Given the description of an element on the screen output the (x, y) to click on. 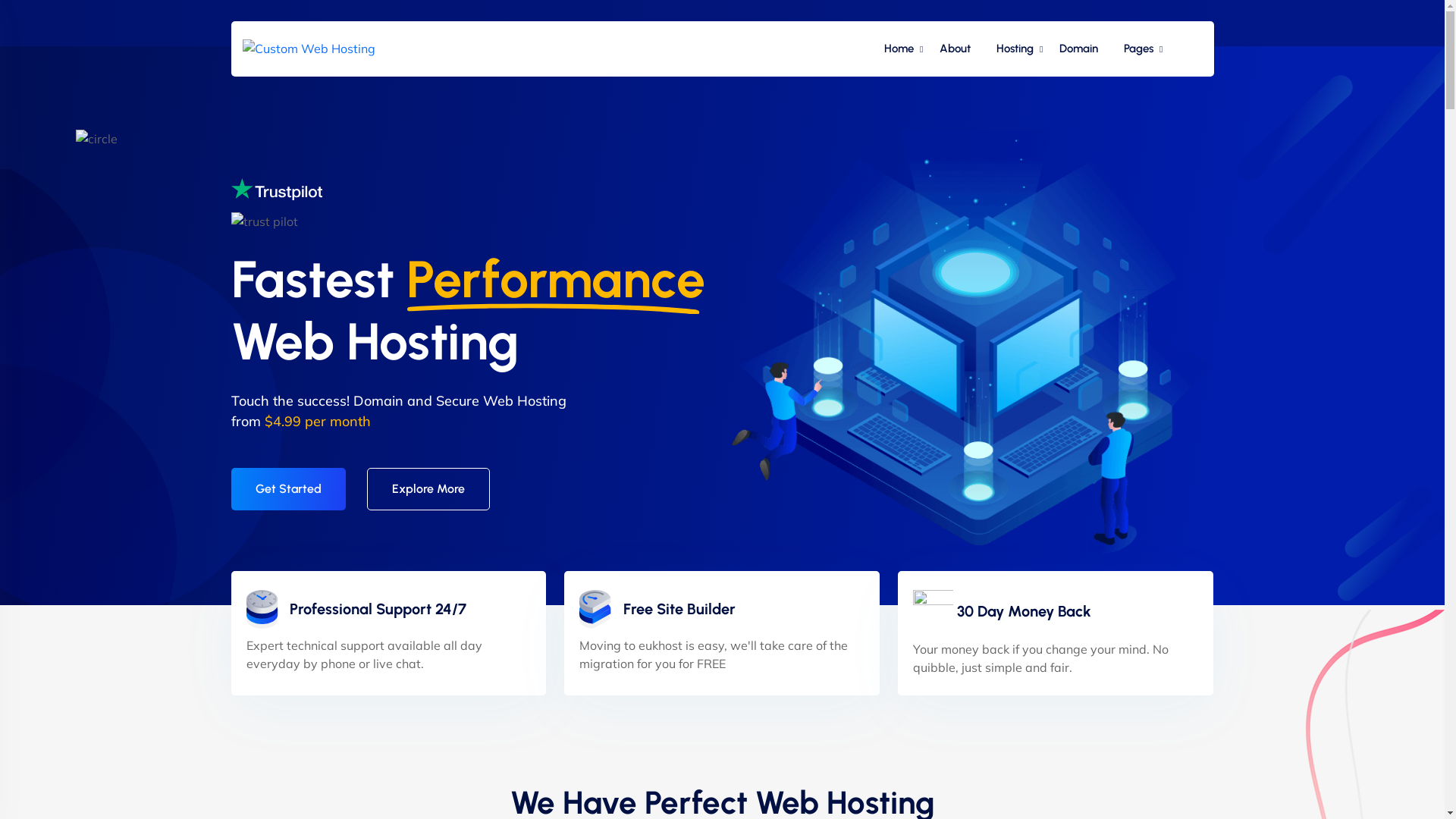
Get Started Element type: text (287, 488)
Hosting Element type: text (1014, 48)
Pages Element type: text (1137, 48)
Home Element type: text (898, 48)
Explore More Element type: text (428, 488)
Domain Element type: text (1078, 48)
About Element type: text (955, 48)
